Given the description of an element on the screen output the (x, y) to click on. 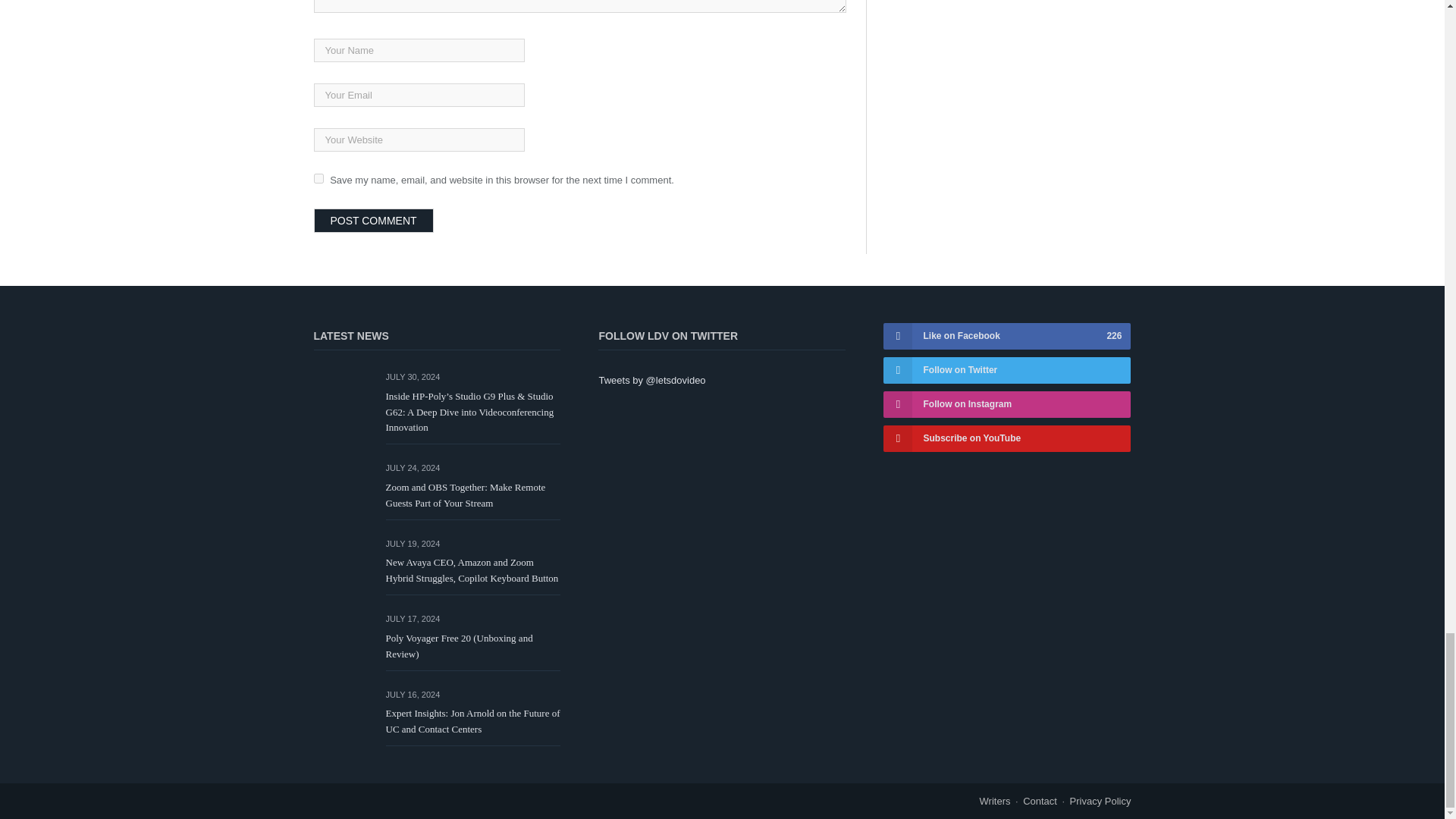
yes (318, 178)
Post Comment (373, 220)
